Given the description of an element on the screen output the (x, y) to click on. 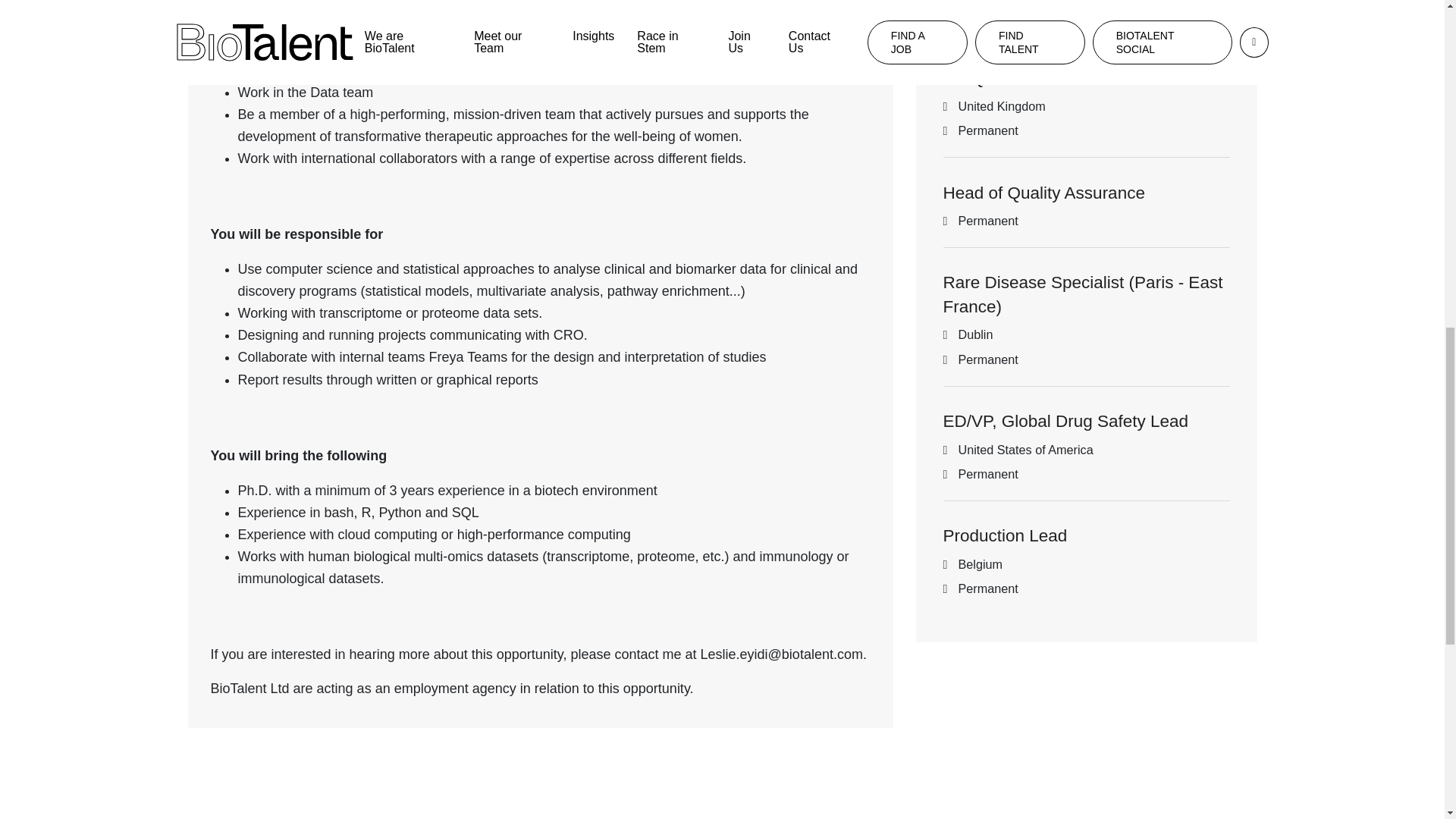
UK QPPV (981, 76)
Head of Quality Assurance (1043, 192)
Production Lead (1005, 535)
